Given the description of an element on the screen output the (x, y) to click on. 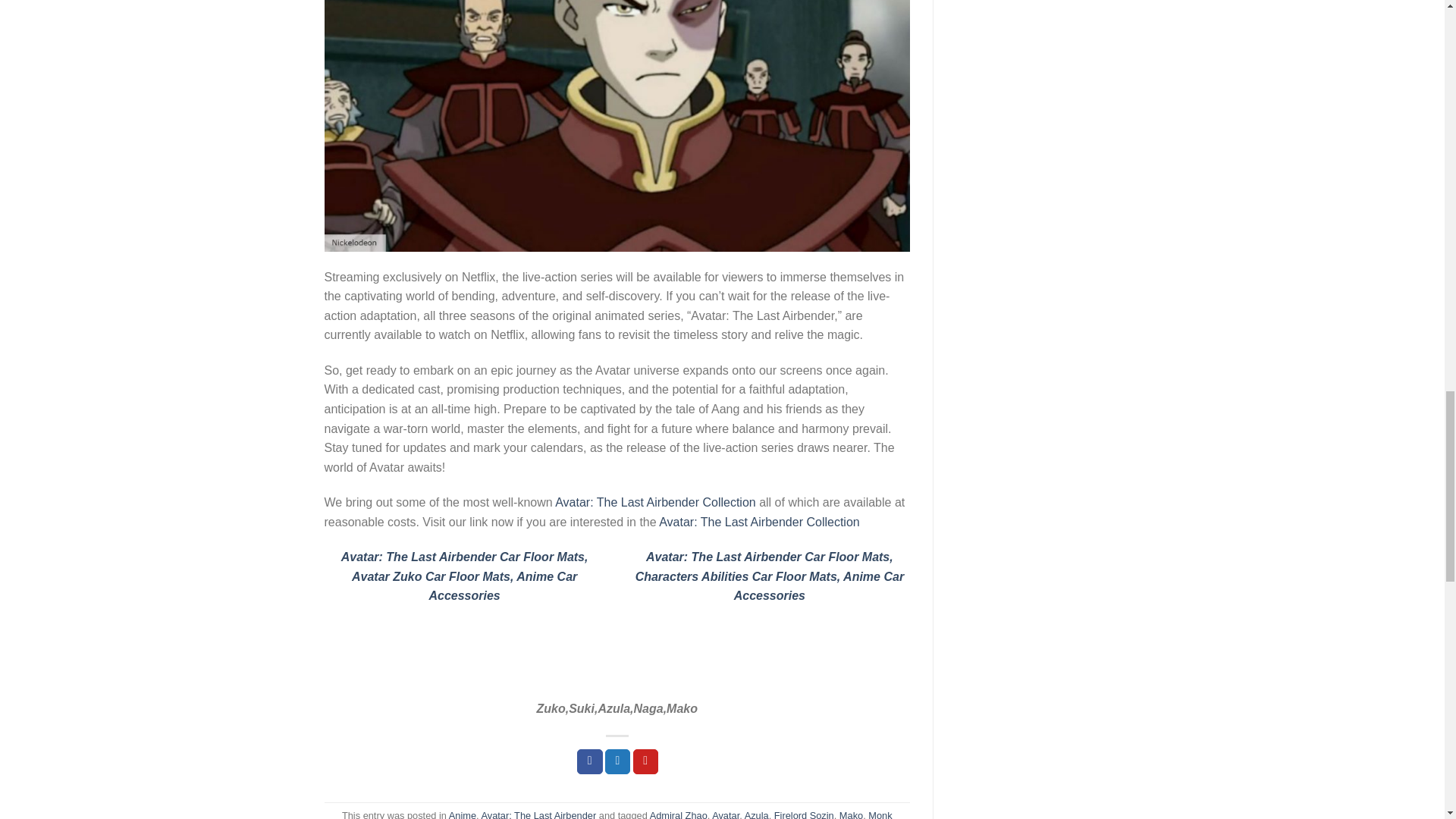
Avatar: The Last Airbender (537, 814)
Anime (462, 814)
Firelord Sozin (804, 814)
Mako (851, 814)
Avatar: The Last Airbender Collection (654, 502)
Share on Twitter (617, 761)
Avatar: The Last Airbender Collection (759, 521)
Azula (756, 814)
